Given the description of an element on the screen output the (x, y) to click on. 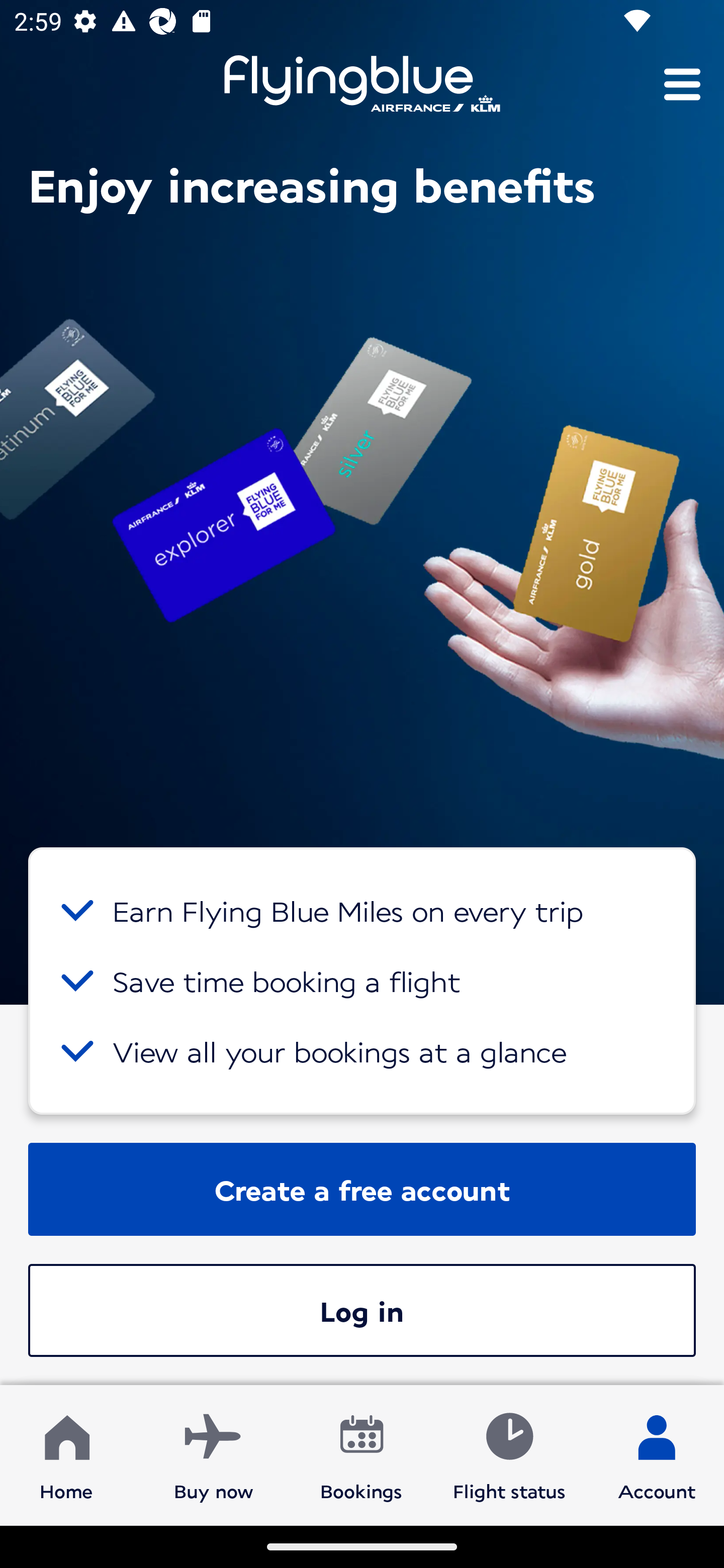
Create a free account (361, 1189)
Log in (361, 1309)
Home (66, 1454)
Buy now (213, 1454)
Bookings (361, 1454)
Flight status (509, 1454)
